Given the description of an element on the screen output the (x, y) to click on. 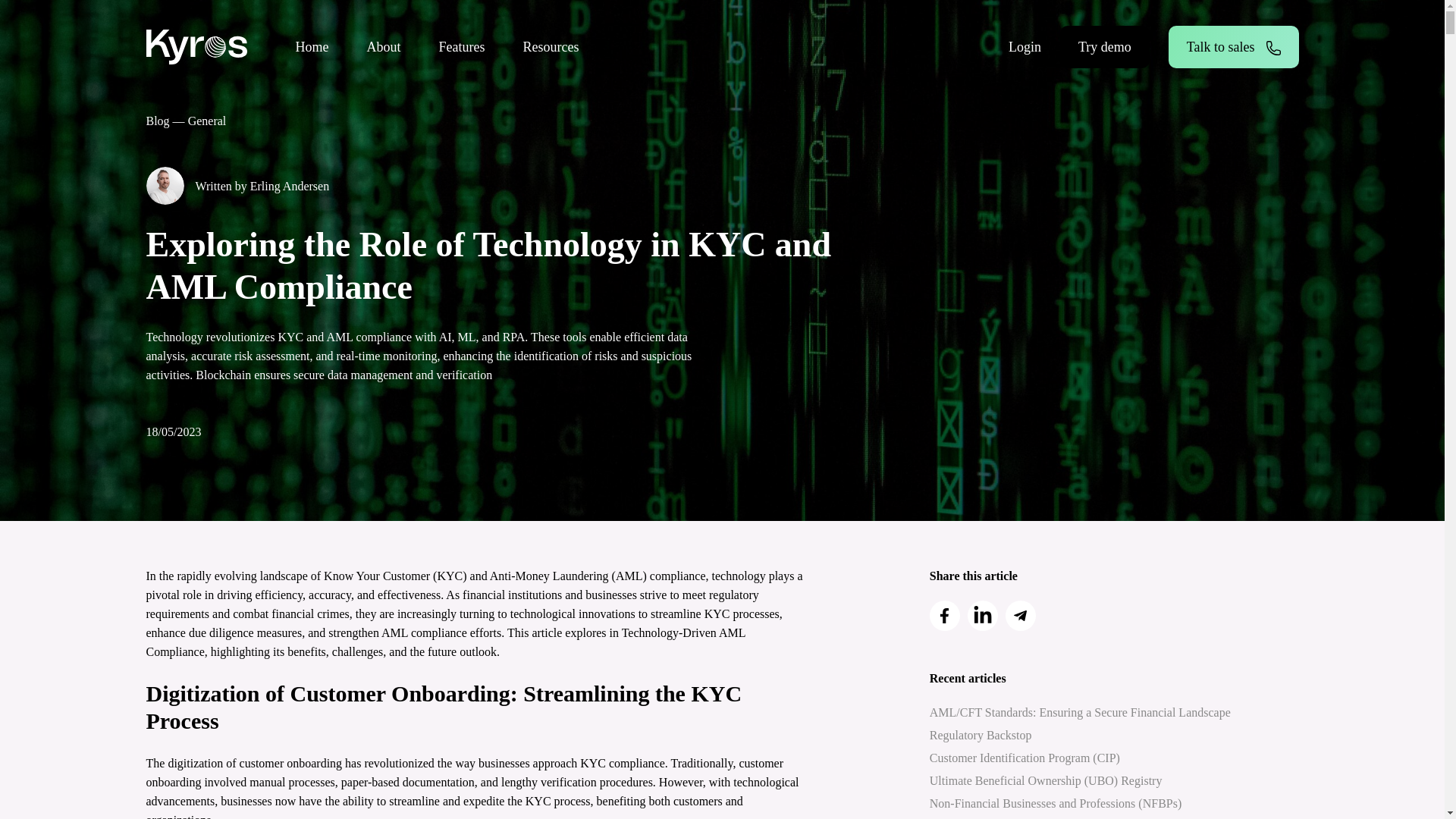
Talk to sales (1233, 46)
Resources (550, 46)
General (207, 120)
Login (1025, 46)
Talk to sales (1233, 46)
Try demo (1104, 46)
Login (1025, 46)
Try demo (1104, 46)
